Given the description of an element on the screen output the (x, y) to click on. 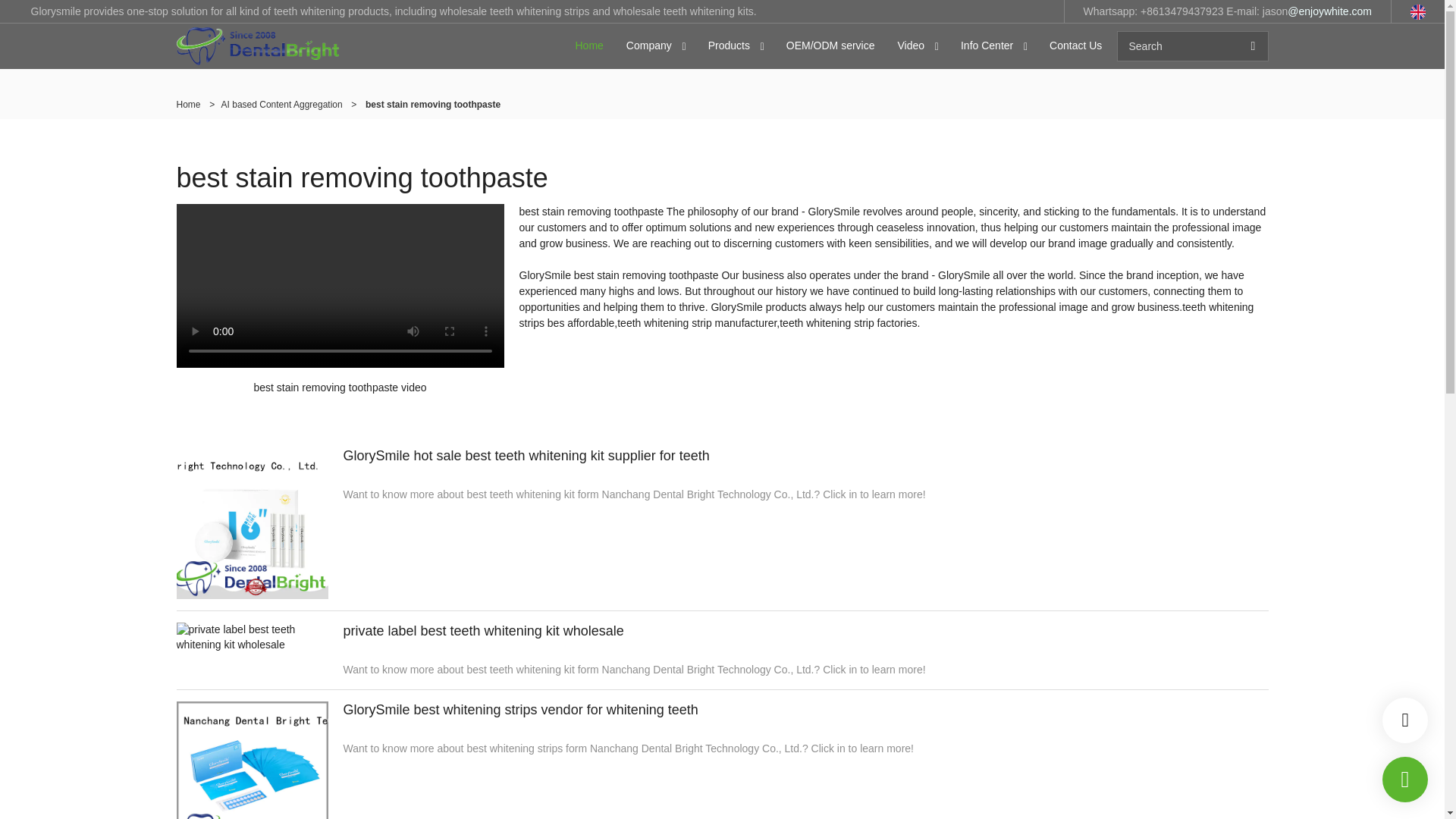
Video (910, 45)
AI based Content Aggregation (281, 104)
Contact Us (1075, 45)
Products (729, 45)
Company (648, 45)
Home (589, 45)
Home (188, 104)
Info Center (987, 45)
